Given the description of an element on the screen output the (x, y) to click on. 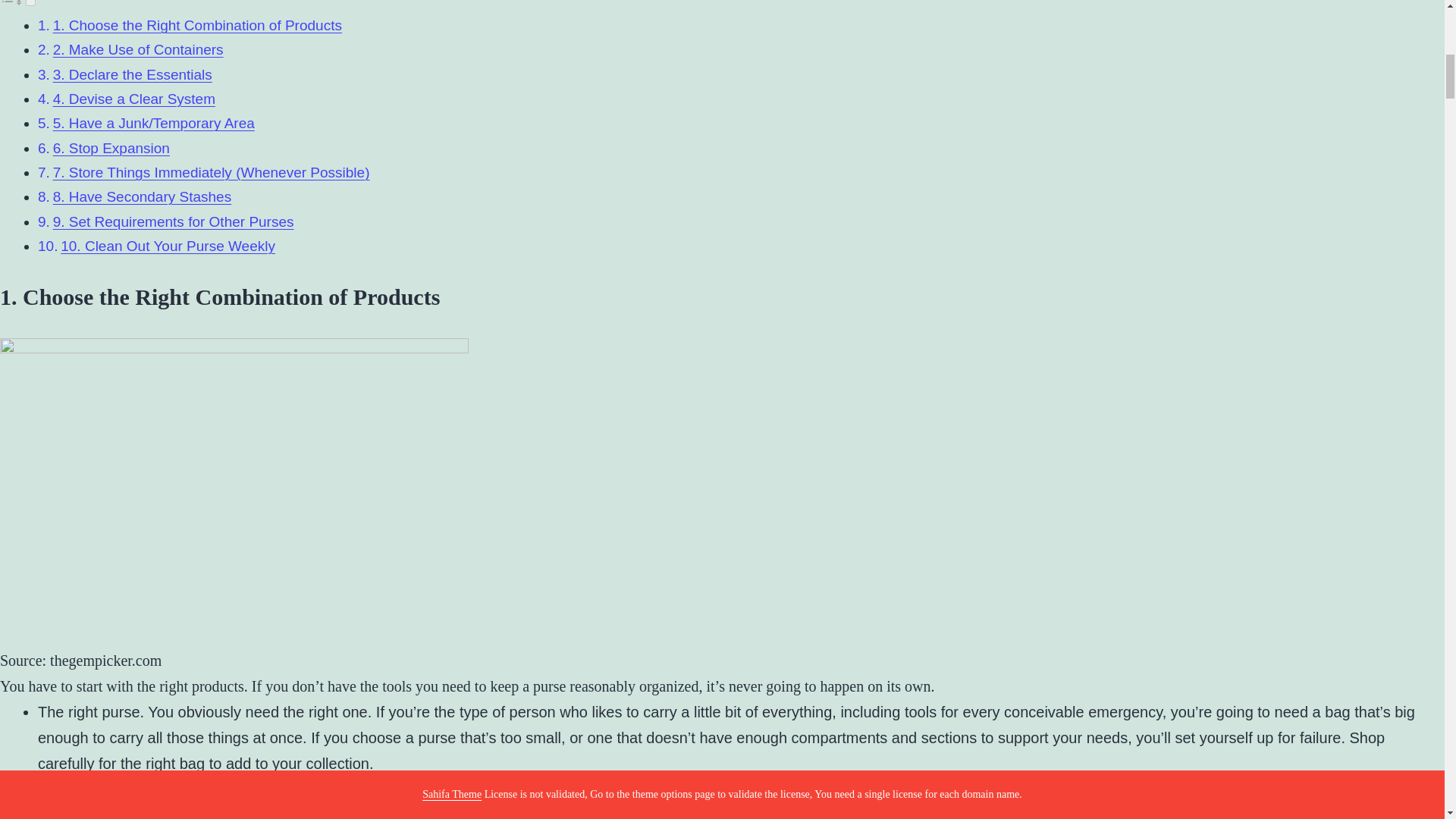
3. Declare the Essentials (132, 74)
8. Have Secondary Stashes (141, 196)
9. Set Requirements for Other Purses (173, 221)
8. Have Secondary Stashes (141, 196)
3. Declare the Essentials (132, 74)
4. Devise a Clear System (133, 98)
1. Choose the Right Combination of Products (197, 25)
9. Set Requirements for Other Purses (173, 221)
2. Make Use of Containers (138, 49)
1. Choose the Right Combination of Products (197, 25)
on (30, 2)
10. Clean Out Your Purse Weekly (168, 245)
PortlandLeatherGoods (311, 789)
6. Stop Expansion (111, 148)
2. Make Use of Containers (138, 49)
